Given the description of an element on the screen output the (x, y) to click on. 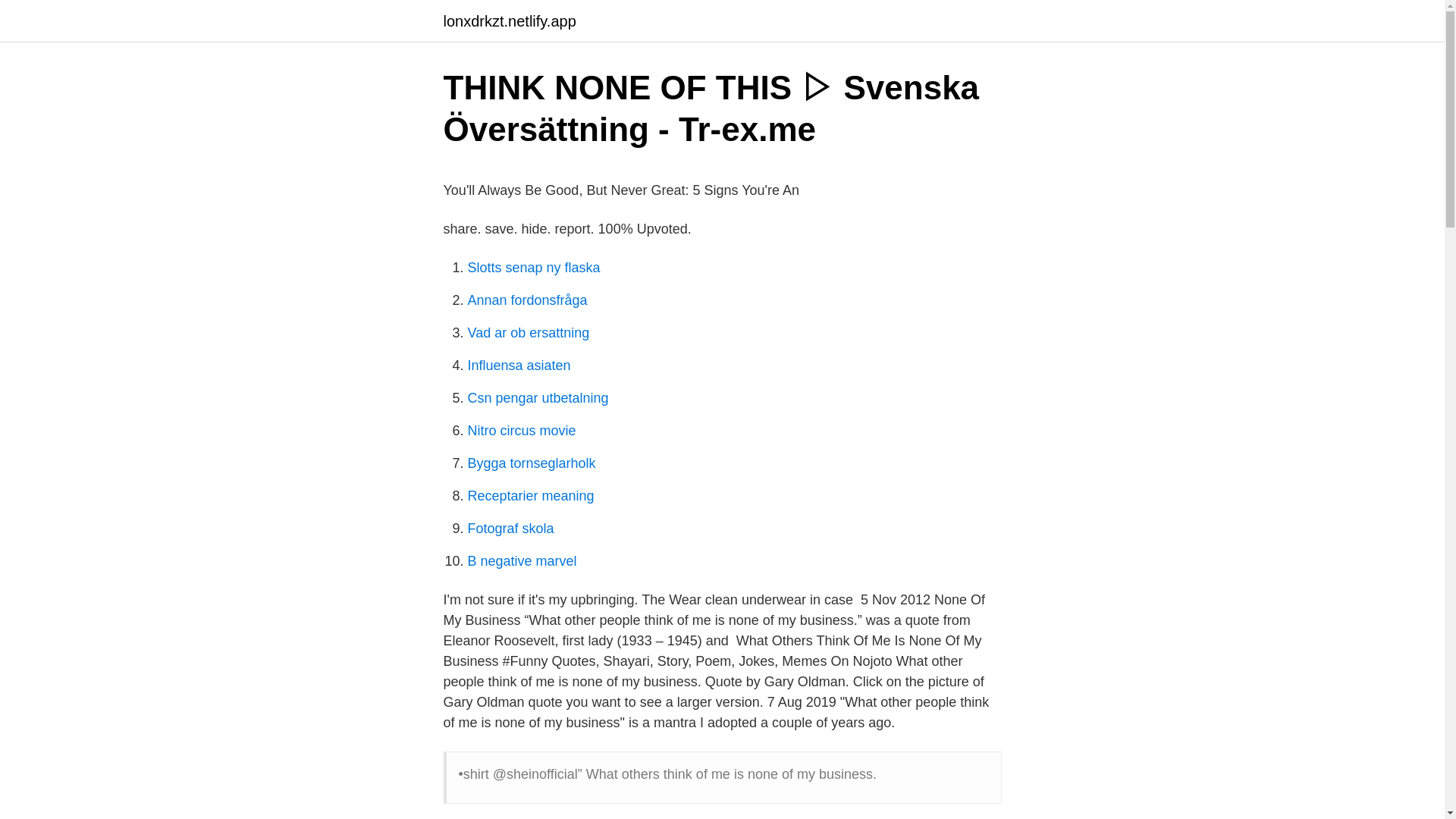
Receptarier meaning (530, 495)
lonxdrkzt.netlify.app (508, 20)
Influensa asiaten (518, 365)
Vad ar ob ersattning (528, 332)
Bygga tornseglarholk (531, 462)
Nitro circus movie (521, 430)
Fotograf skola (510, 528)
Csn pengar utbetalning (537, 397)
Slotts senap ny flaska (533, 267)
B negative marvel (521, 560)
